Given the description of an element on the screen output the (x, y) to click on. 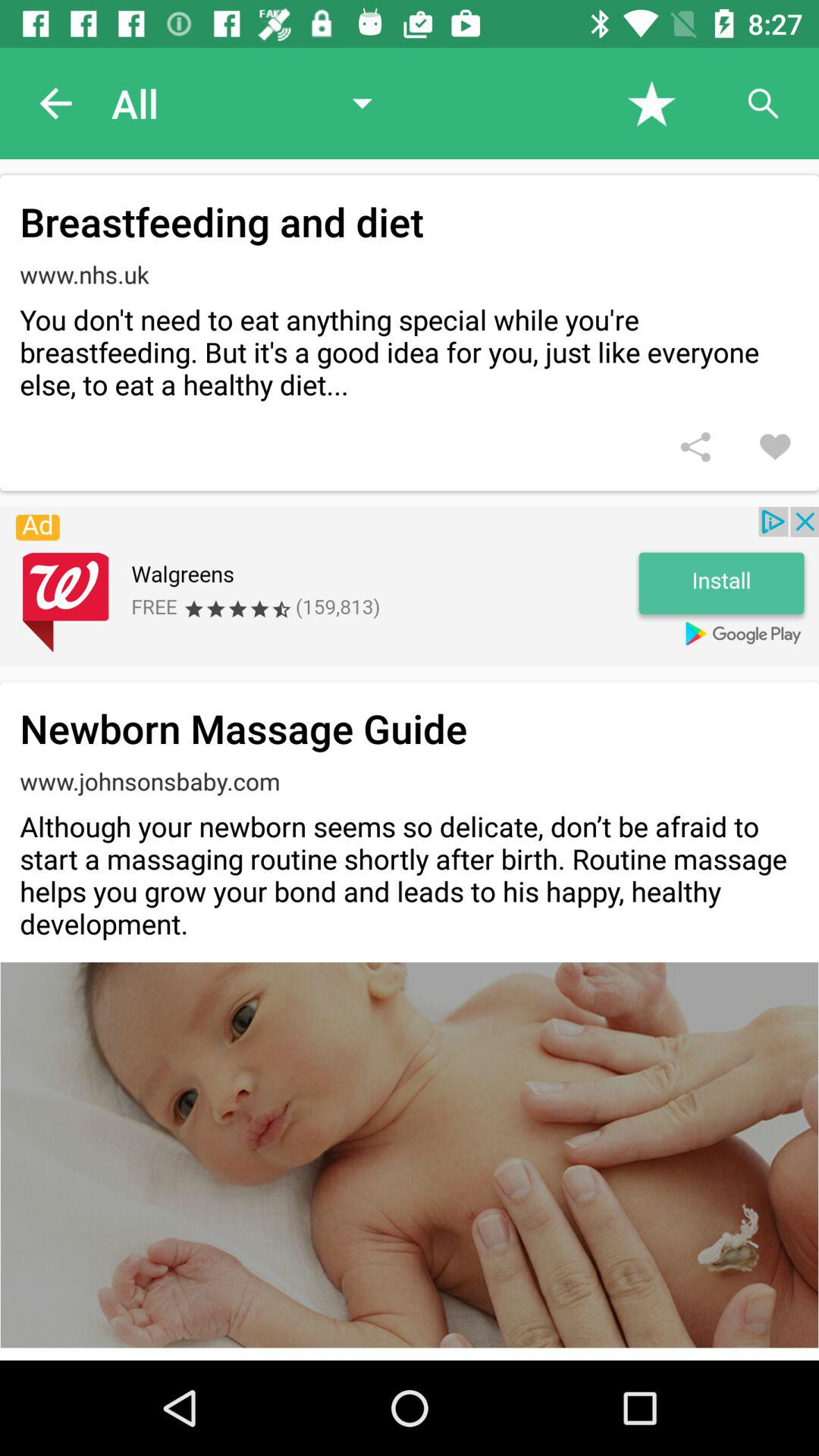
give heart (775, 446)
